Given the description of an element on the screen output the (x, y) to click on. 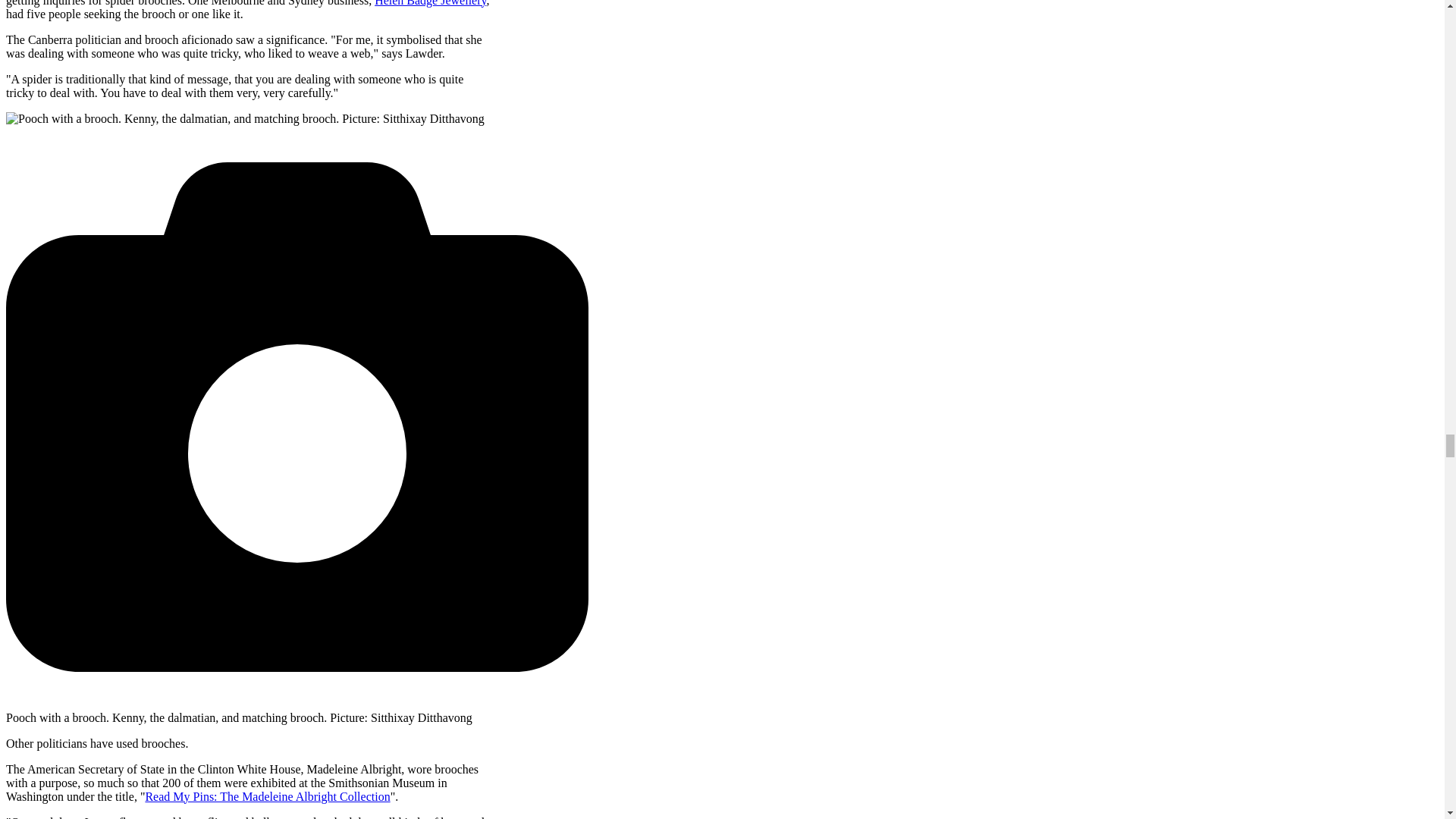
Read My Pins The Madeleine Albright Collection (267, 796)
